Given the description of an element on the screen output the (x, y) to click on. 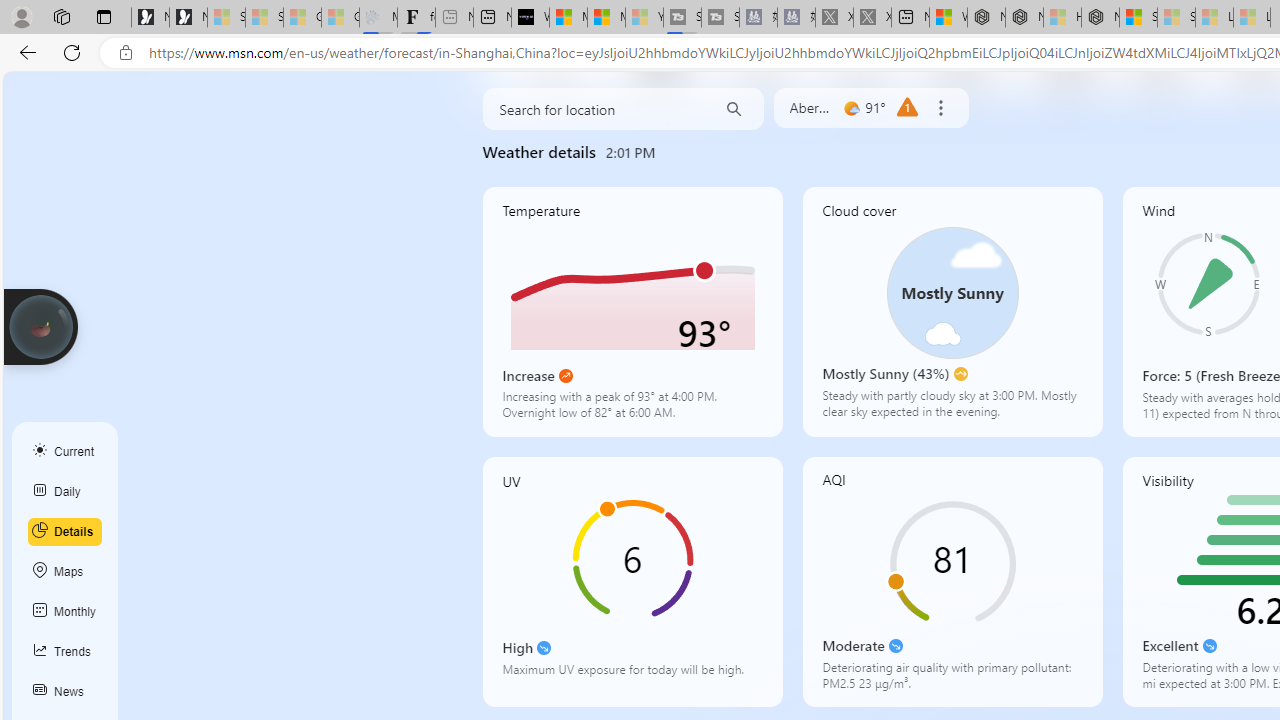
Current (65, 451)
Cloud cover (952, 312)
Nordace - Nordace Siena Is Not An Ordinary Backpack (1099, 17)
Class: cloudCoverSvg-DS-ps0R9q (951, 292)
Aberdeen (811, 107)
Maps (65, 572)
Monthly (65, 611)
